Given the description of an element on the screen output the (x, y) to click on. 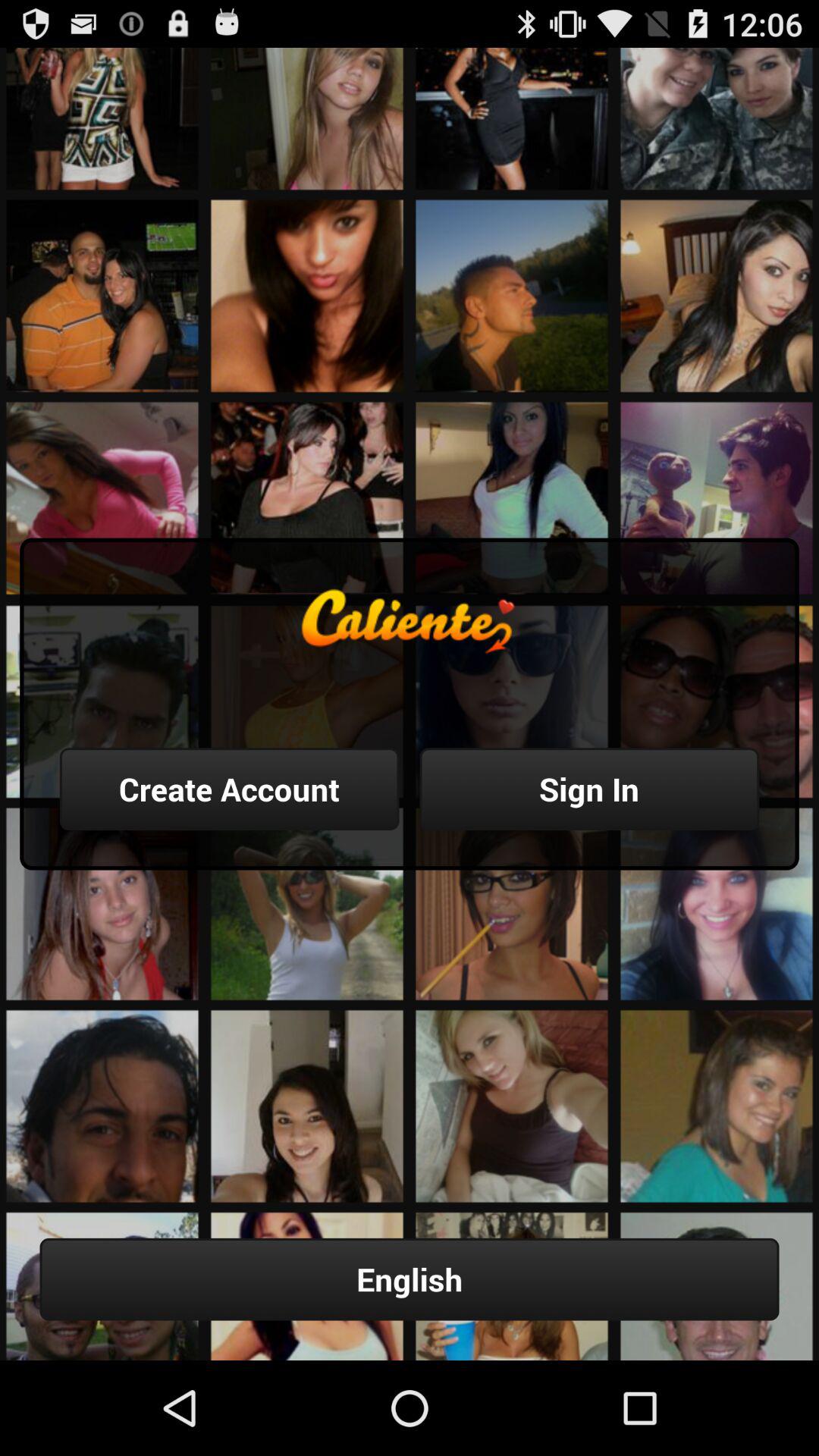
choose button on the right (589, 788)
